Given the description of an element on the screen output the (x, y) to click on. 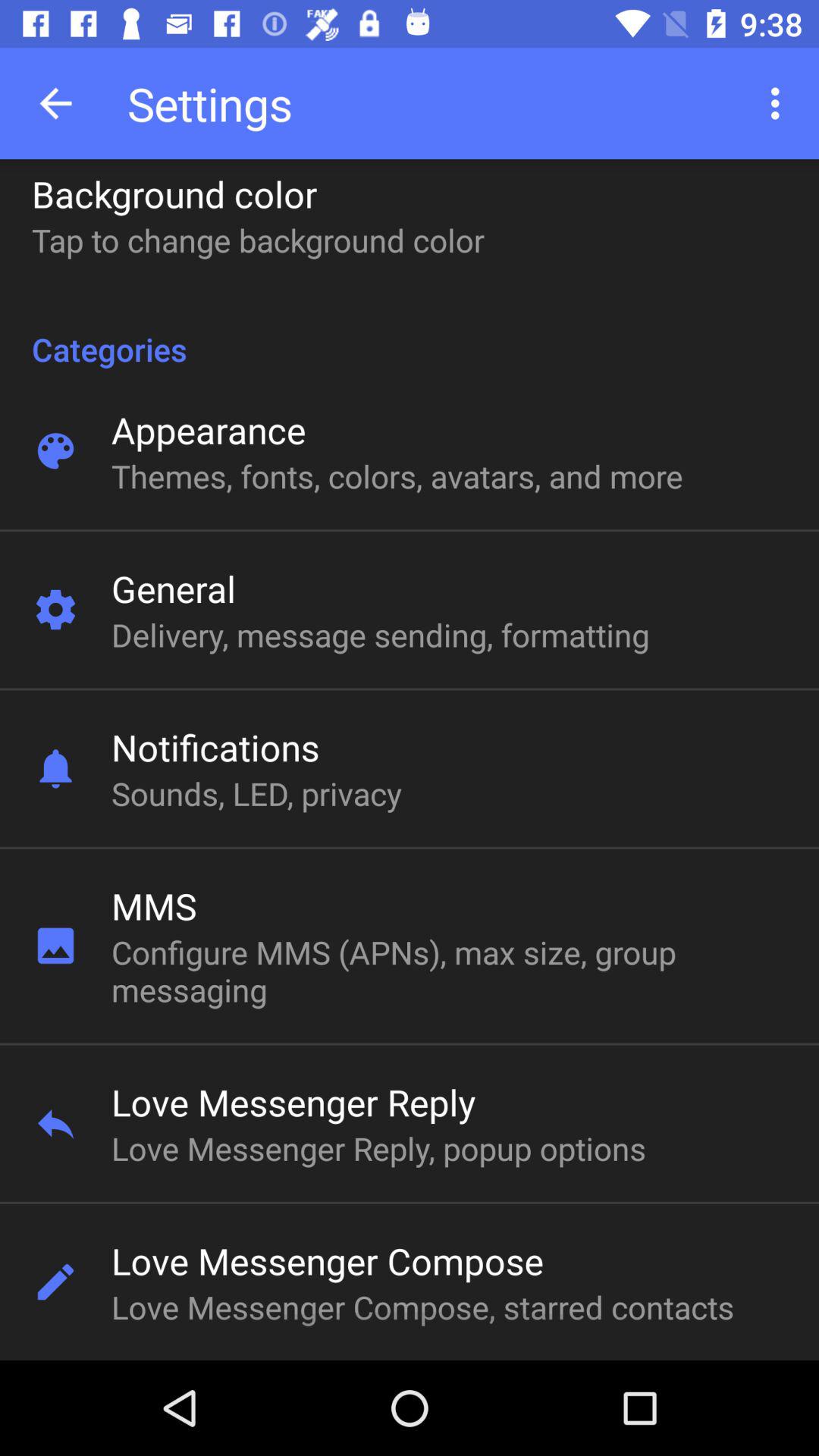
turn off item to the left of settings icon (55, 103)
